Given the description of an element on the screen output the (x, y) to click on. 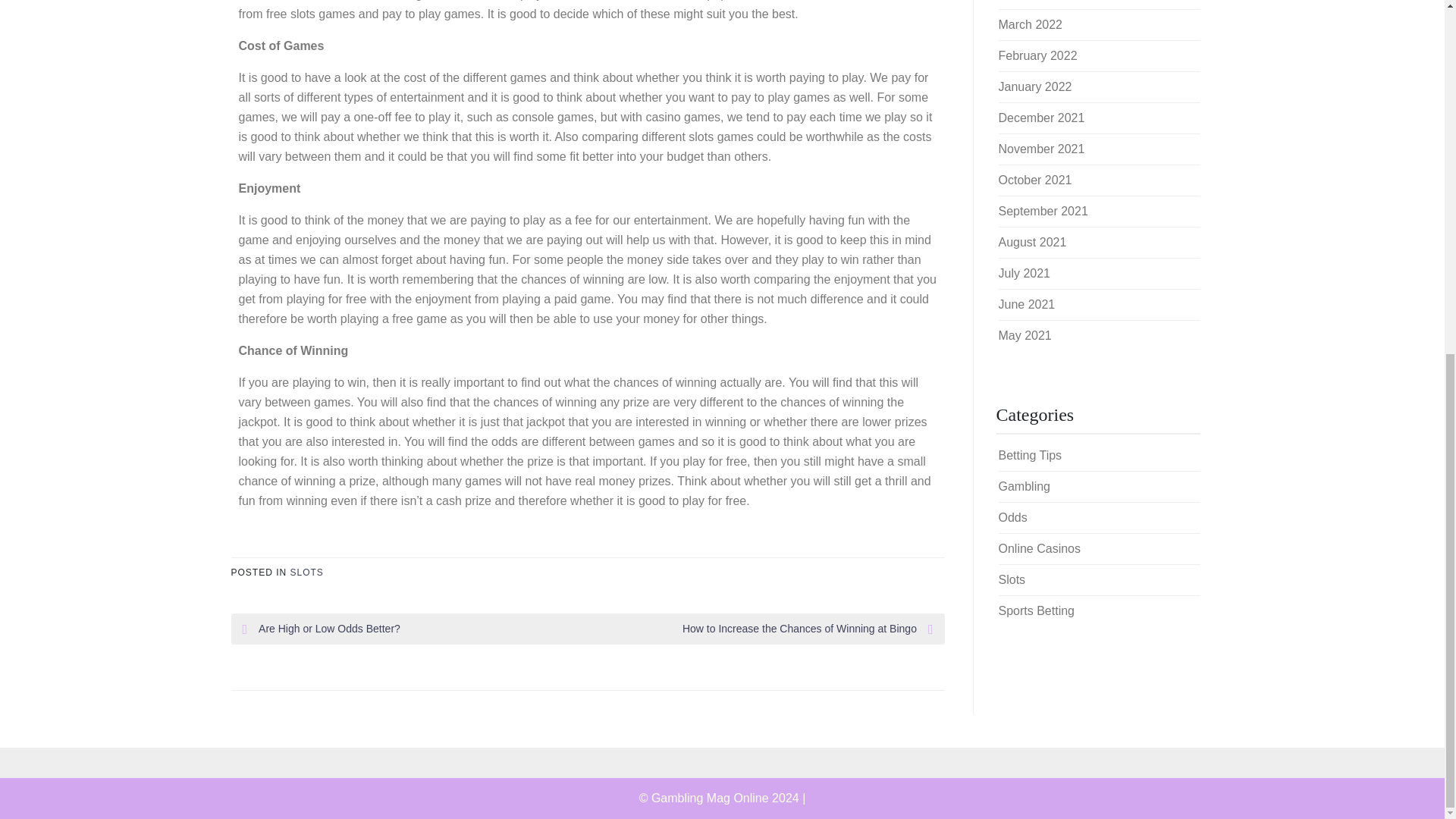
Online Casinos (1038, 548)
November 2021 (1040, 148)
Are High or Low Odds Better? (415, 628)
August 2021 (1031, 241)
Gambling (1023, 486)
Slots (1011, 579)
February 2022 (1037, 55)
SLOTS (306, 572)
June 2021 (1025, 304)
September 2021 (1042, 210)
